Given the description of an element on the screen output the (x, y) to click on. 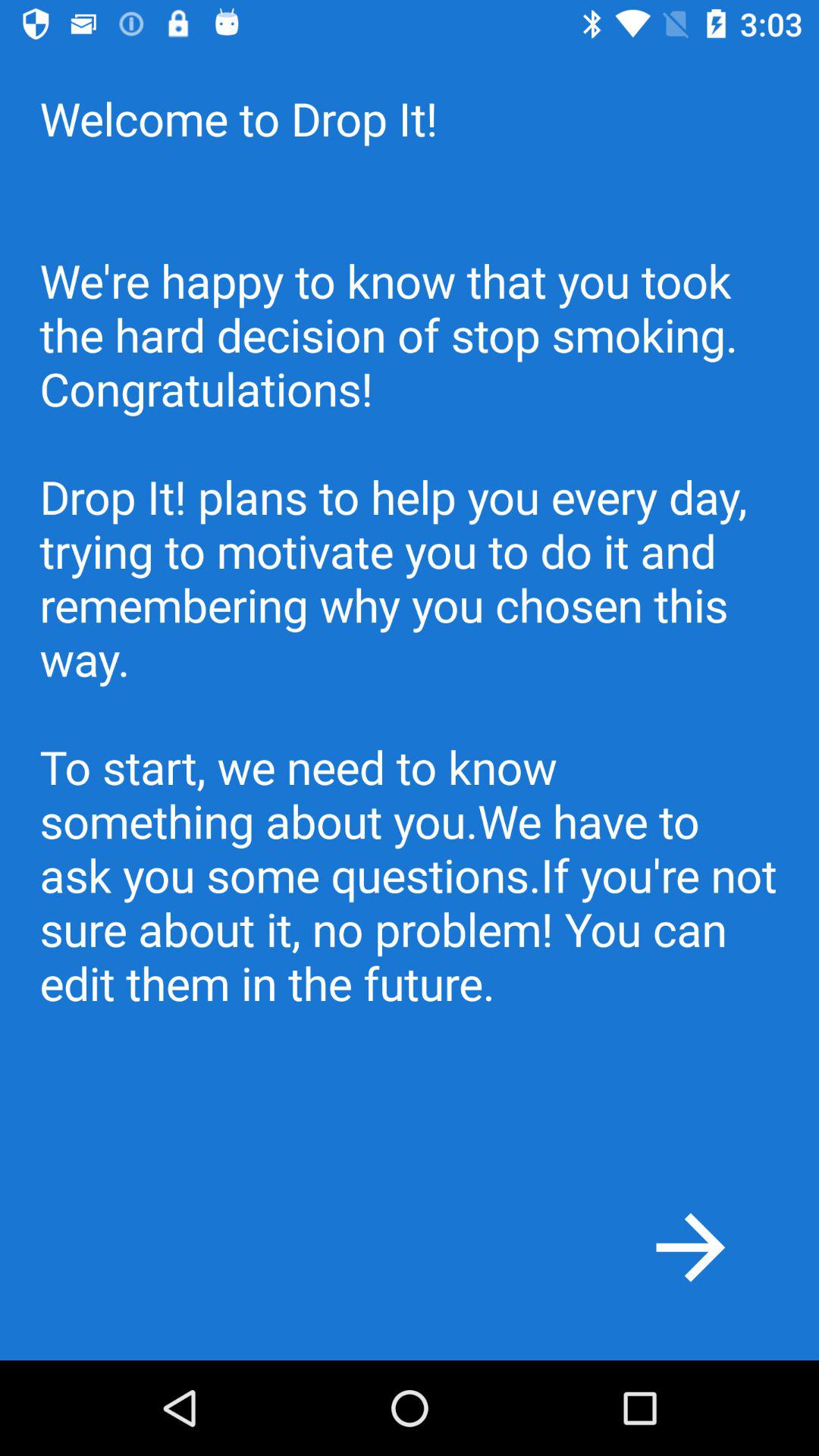
open item at the bottom right corner (690, 1247)
